Given the description of an element on the screen output the (x, y) to click on. 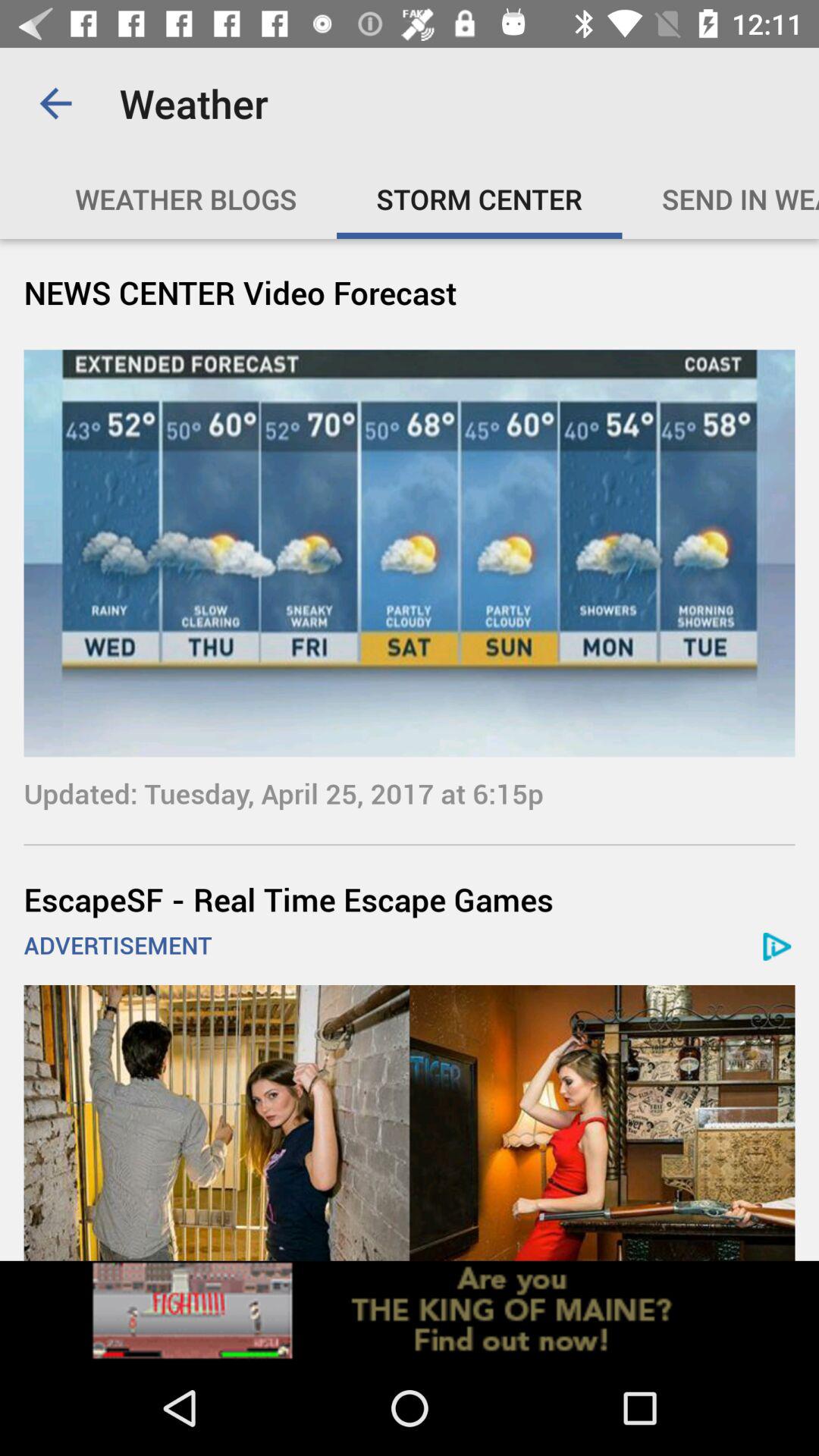
advertisement link image (409, 1310)
